Given the description of an element on the screen output the (x, y) to click on. 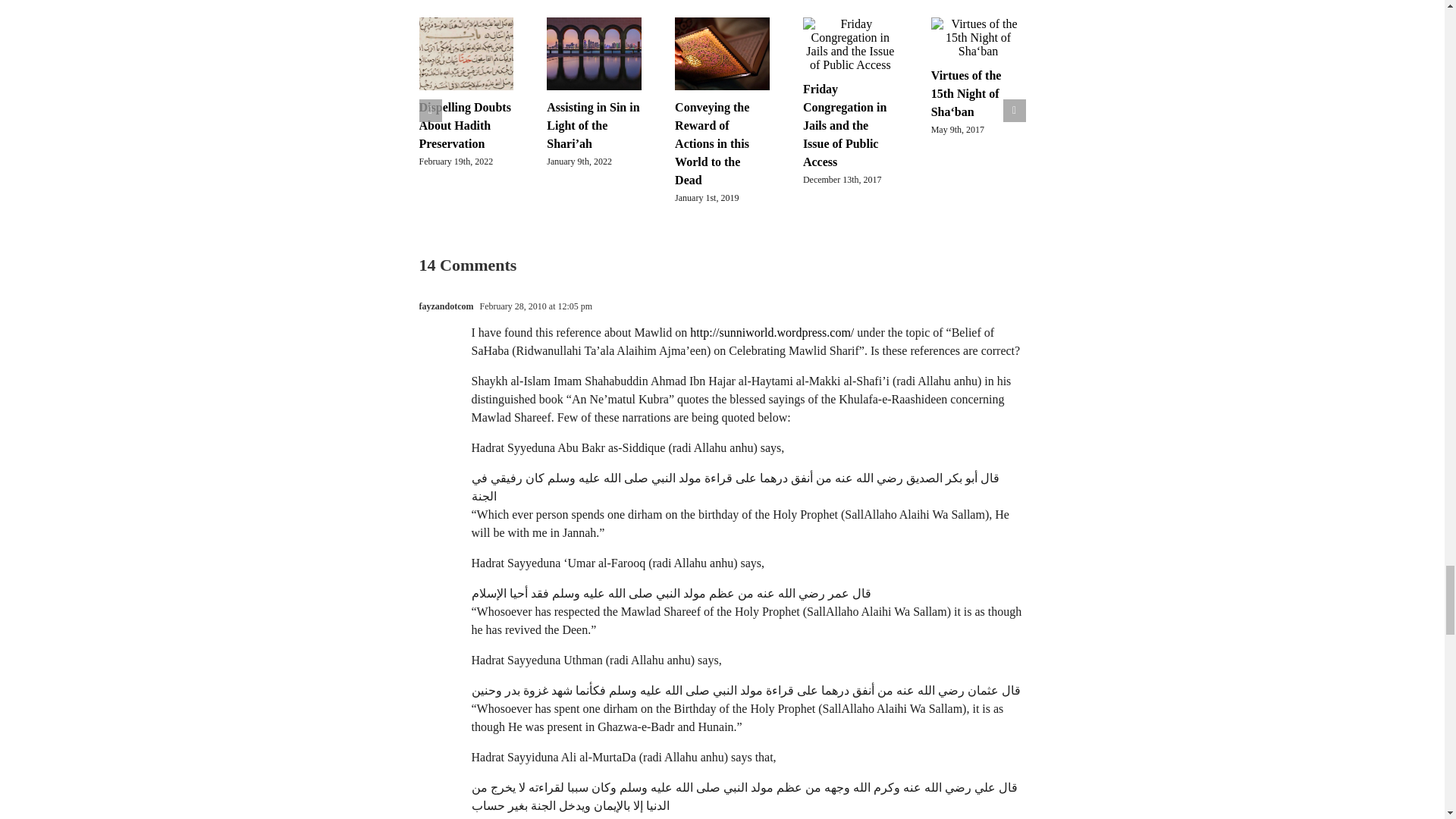
Friday Congregation in Jails and the Issue of Public Access (844, 125)
Dispelling Doubts About Hadith Preservation (465, 124)
Friday Congregation in Jails and the Issue of Public Access (844, 125)
Dispelling Doubts About Hadith Preservation (465, 124)
